Given the description of an element on the screen output the (x, y) to click on. 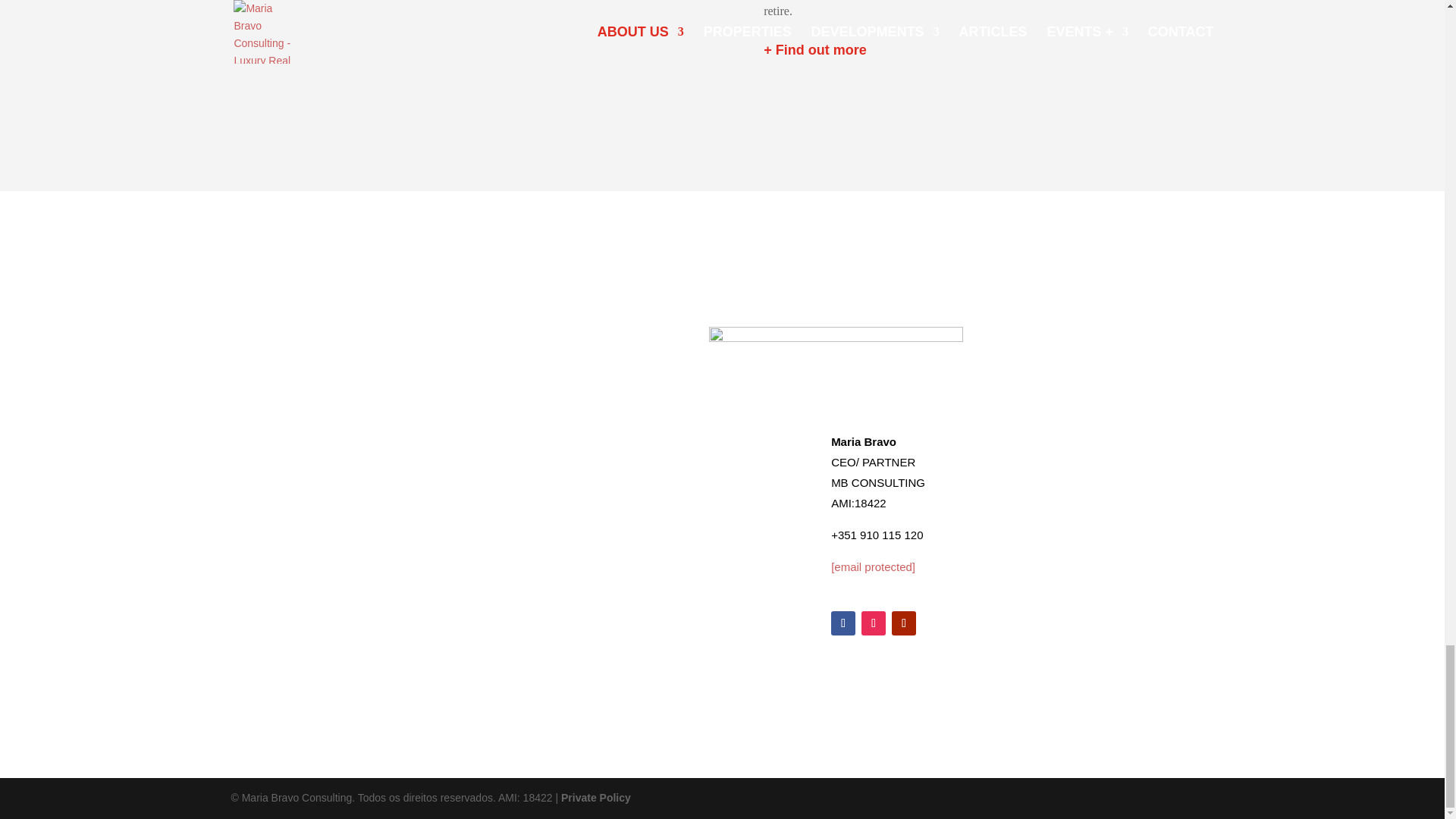
Private Policy (595, 797)
POST-02-MB-APR-2022-22 (505, 47)
Contact us (835, 351)
